Given the description of an element on the screen output the (x, y) to click on. 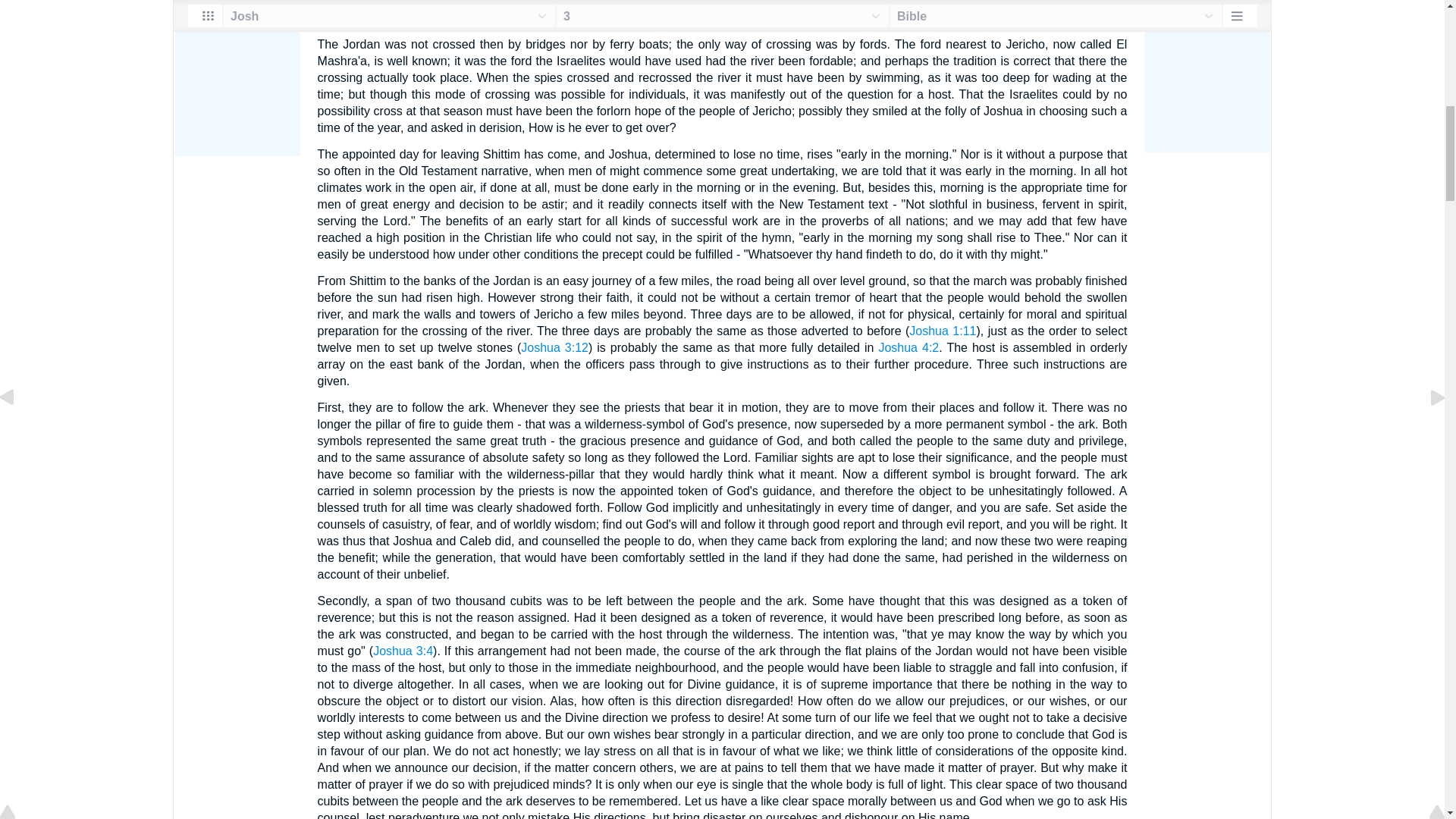
Joshua 3:4 (402, 650)
Joshua 3:12 (554, 347)
Joshua 1:11 (941, 330)
Joshua 4:2 (908, 347)
